Given the description of an element on the screen output the (x, y) to click on. 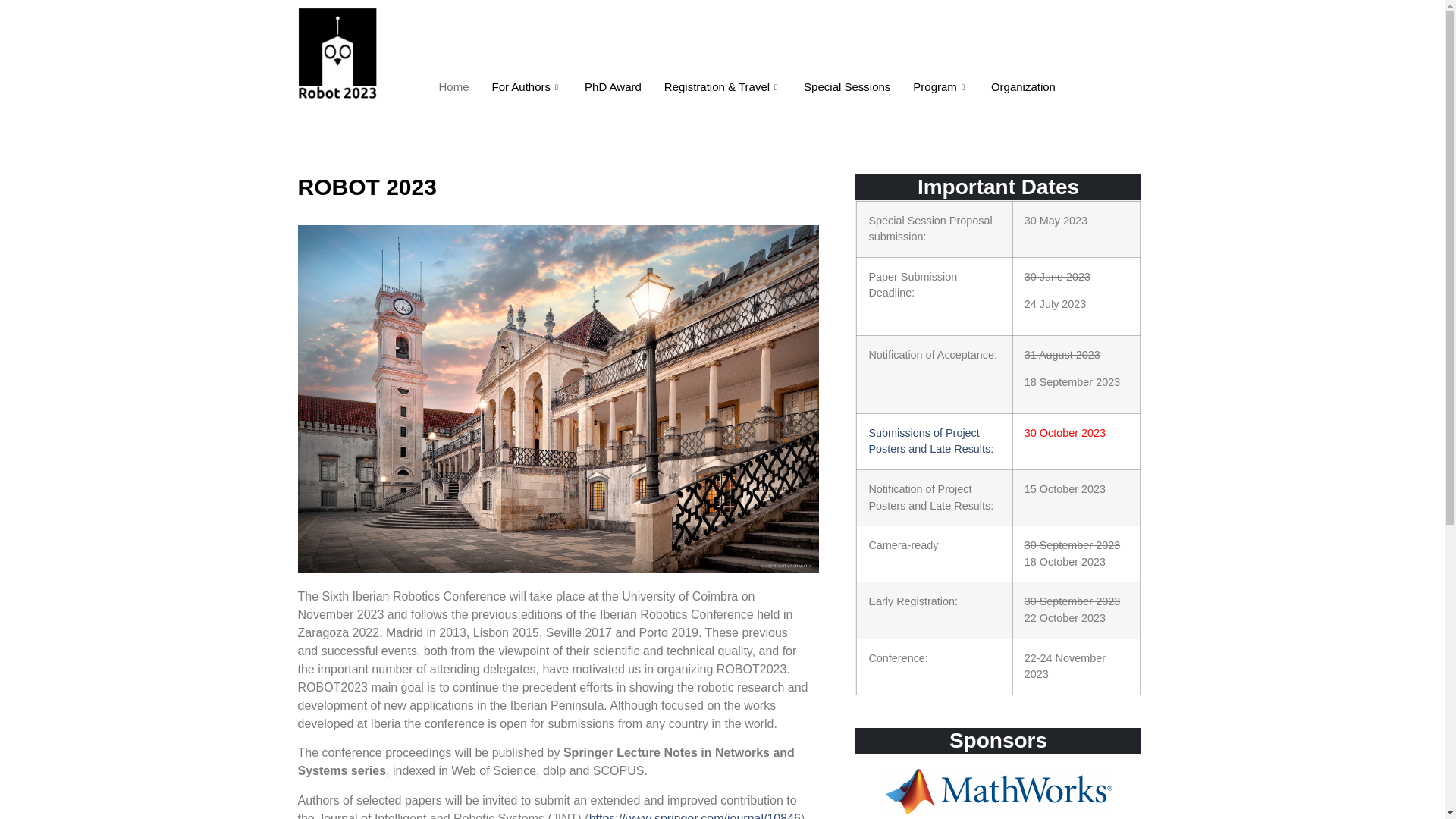
Organization (1023, 86)
For Authors (526, 86)
PhD Award (612, 86)
Submissions of Project Posters and Late Results: (929, 440)
Program (940, 86)
Special Sessions (846, 86)
